Given the description of an element on the screen output the (x, y) to click on. 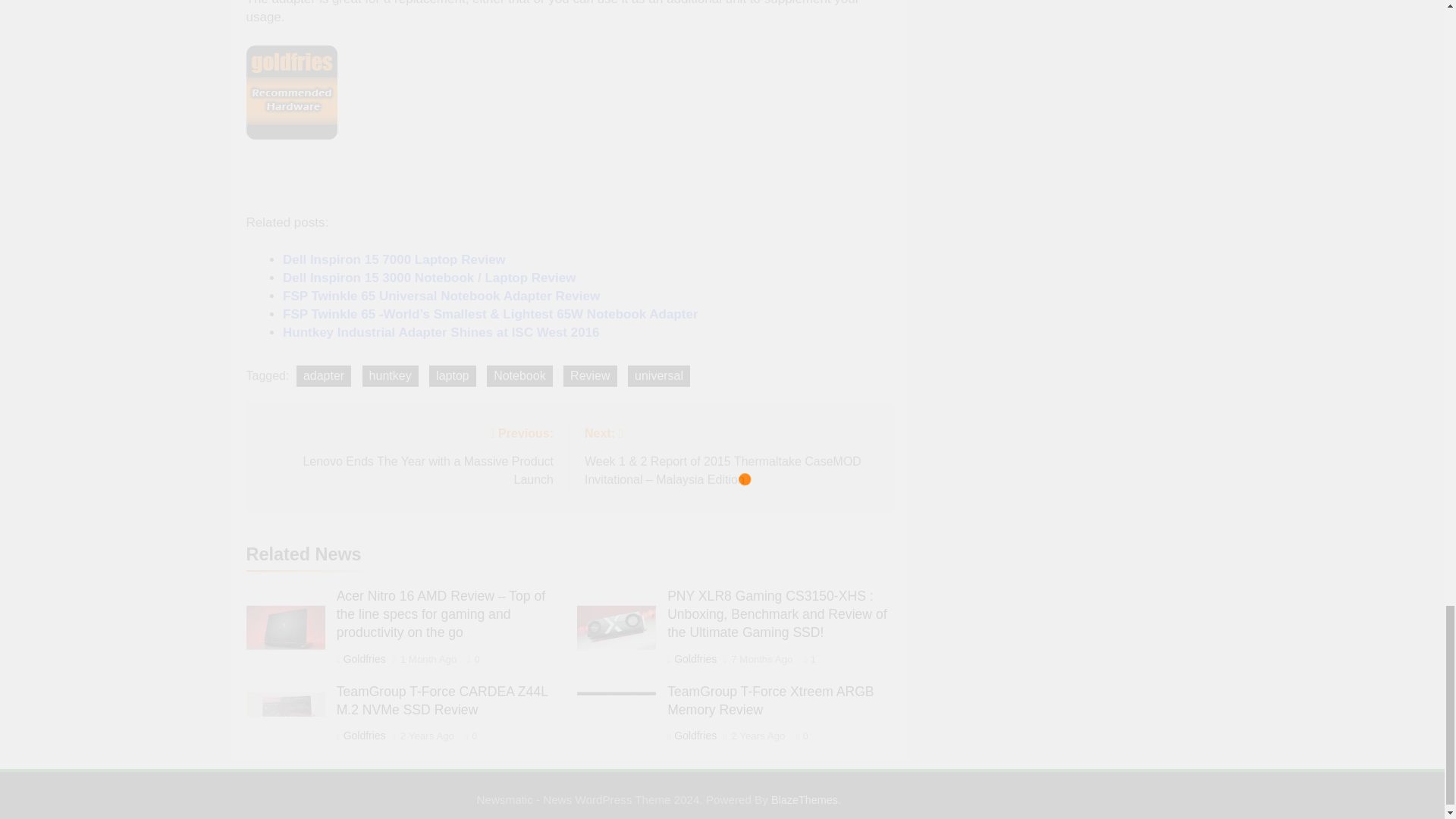
Notebook (519, 375)
Huntkey Industrial Adapter Shines at ISC West 2016 (440, 332)
Huntkey Industrial Adapter Shines at ISC West 2016 (406, 455)
Review (440, 332)
Dell Inspiron 15 7000 Laptop Review (589, 375)
Dell Inspiron 15 7000 Laptop Review (393, 259)
FSP Twinkle 65 Universal Notebook Adapter Review (393, 259)
FSP Twinkle 65 Universal Notebook Adapter Review (440, 296)
adapter (440, 296)
